Given the description of an element on the screen output the (x, y) to click on. 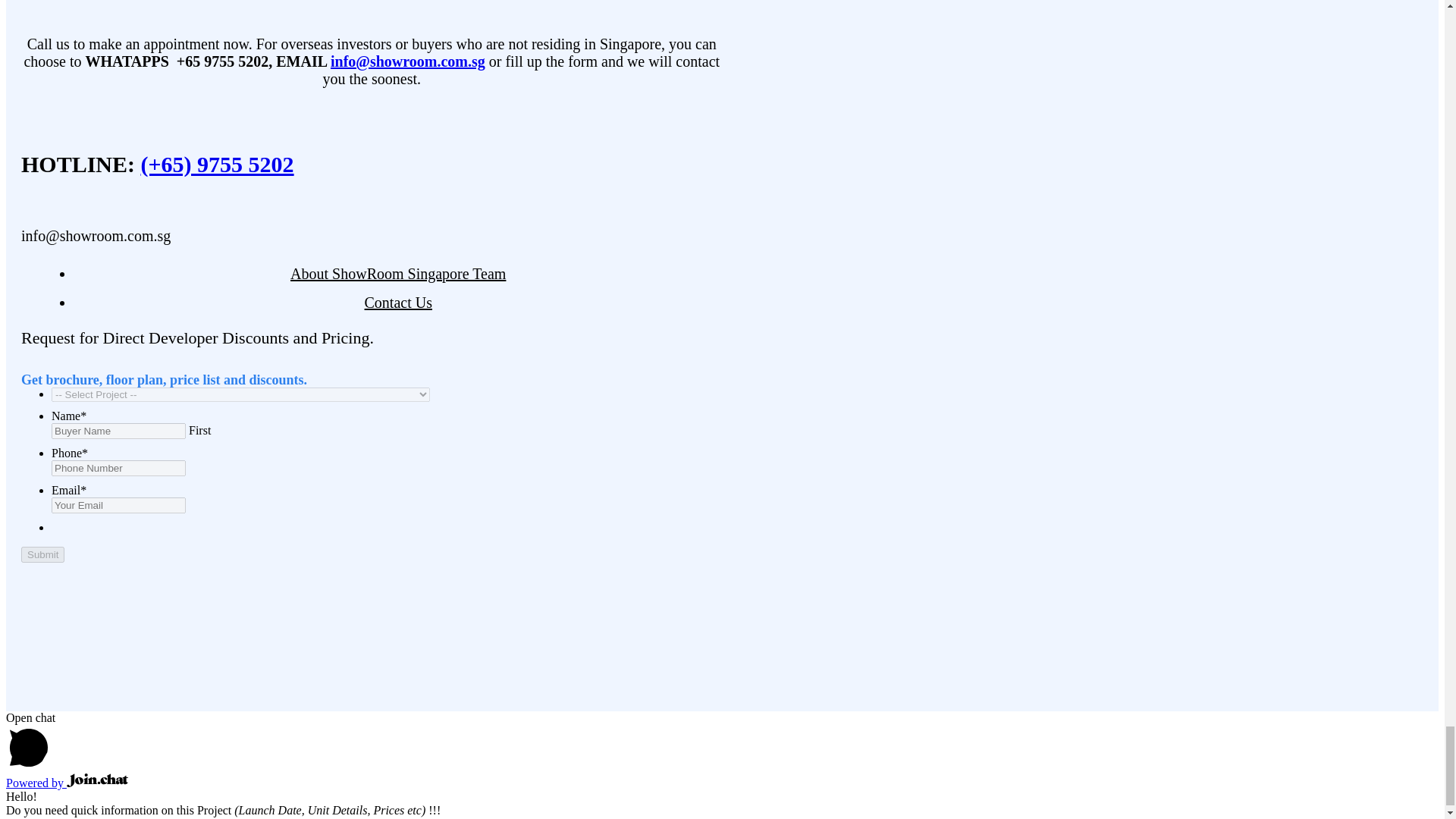
Submit (42, 554)
Joinchat (97, 780)
